Given the description of an element on the screen output the (x, y) to click on. 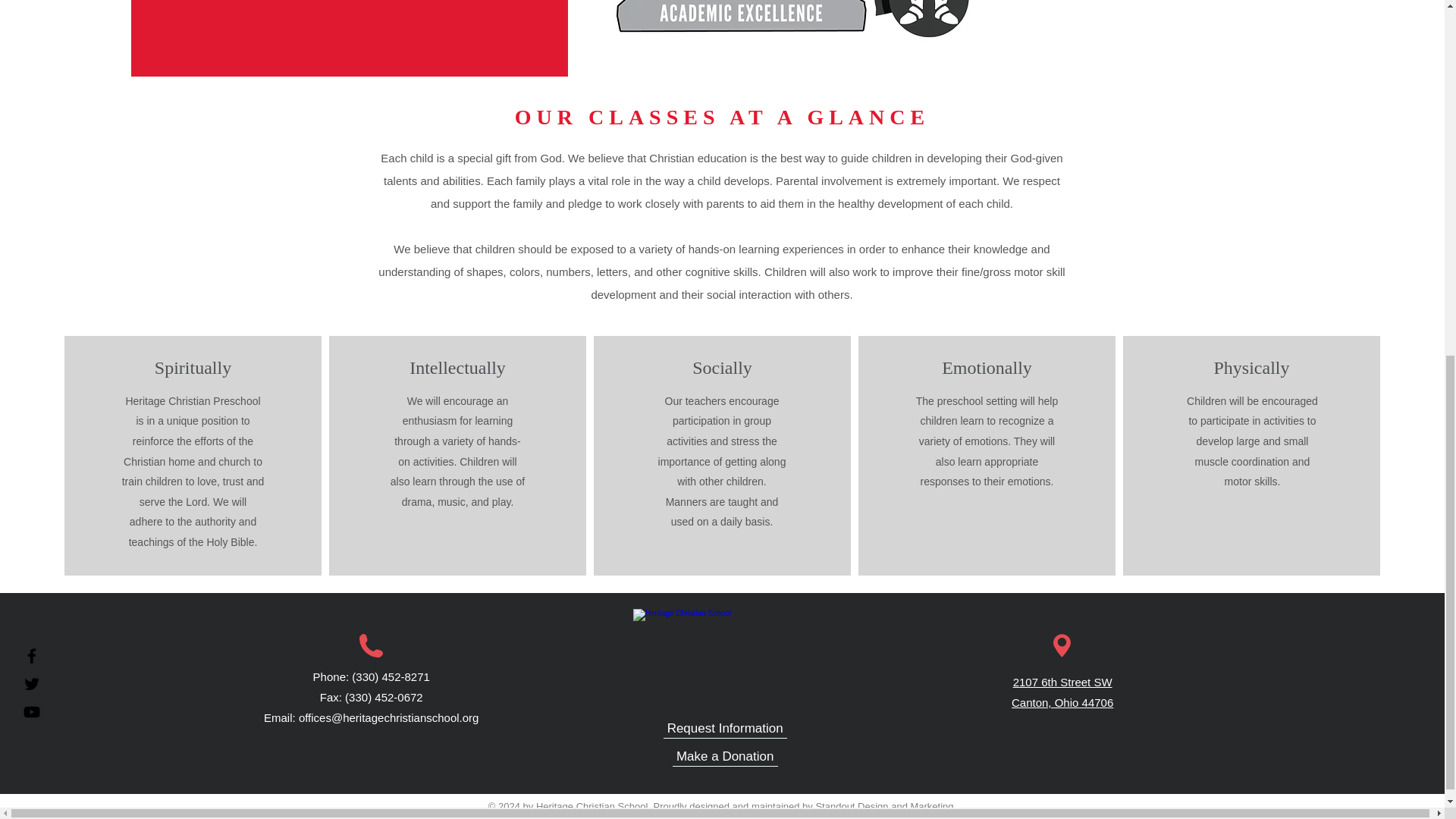
Standout Design and Marketing. (885, 806)
Request Information (725, 728)
Make a Donation (724, 756)
